Given the description of an element on the screen output the (x, y) to click on. 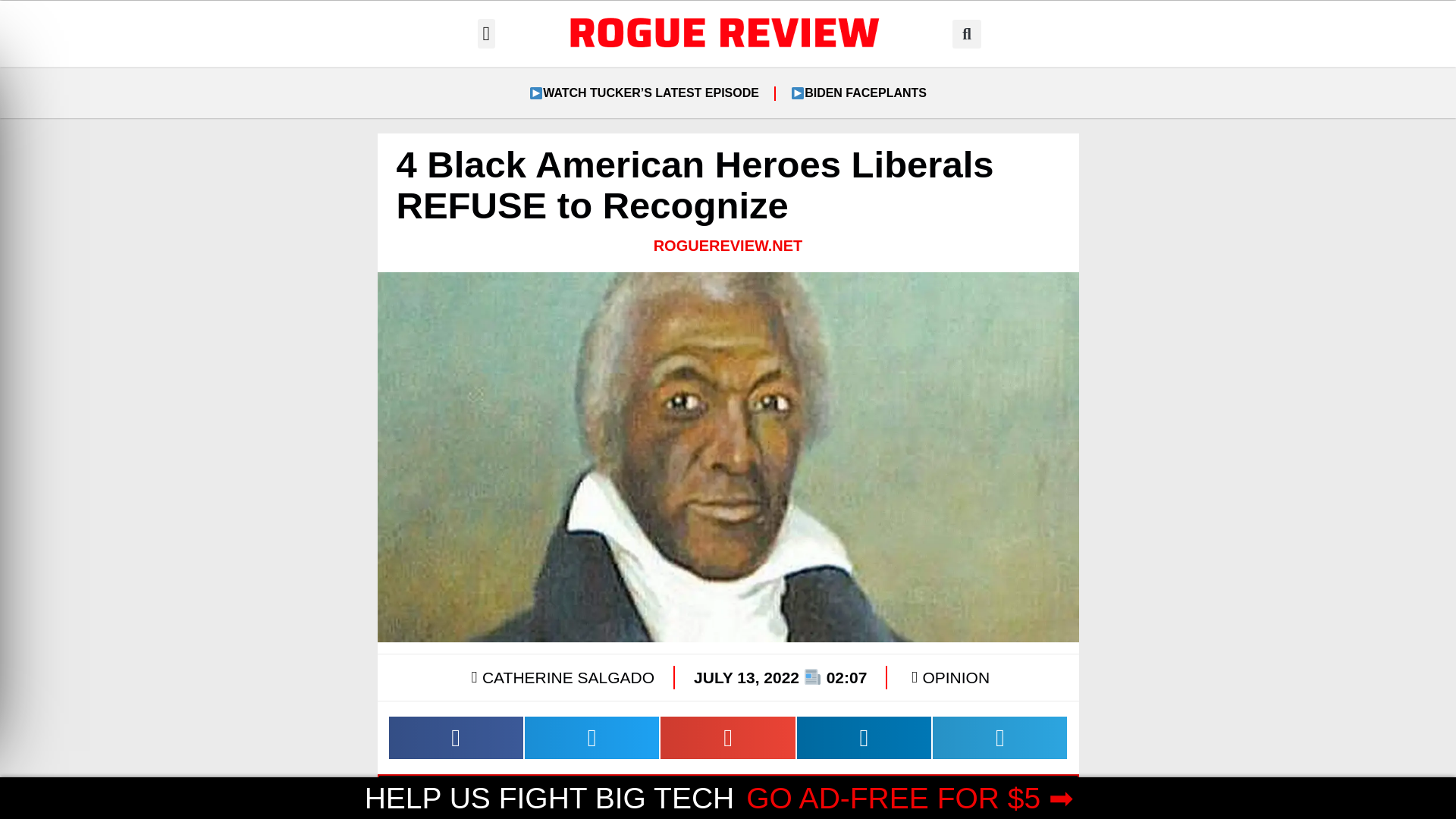
BIDEN FACEPLANTS (859, 93)
OPINION (955, 677)
CATHERINE SALGADO (559, 677)
